Given the description of an element on the screen output the (x, y) to click on. 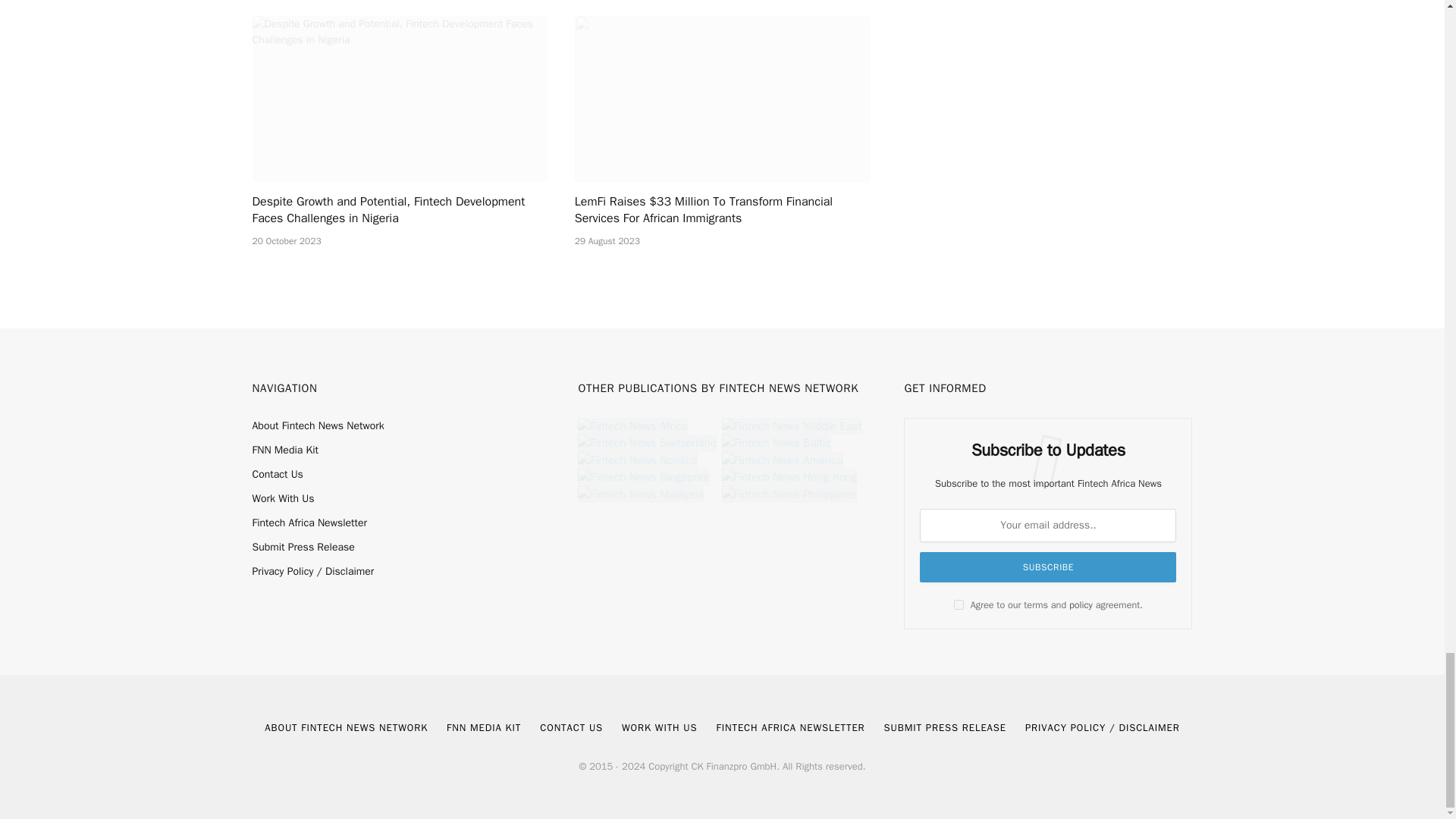
on (958, 604)
Subscribe (1048, 567)
